Given the description of an element on the screen output the (x, y) to click on. 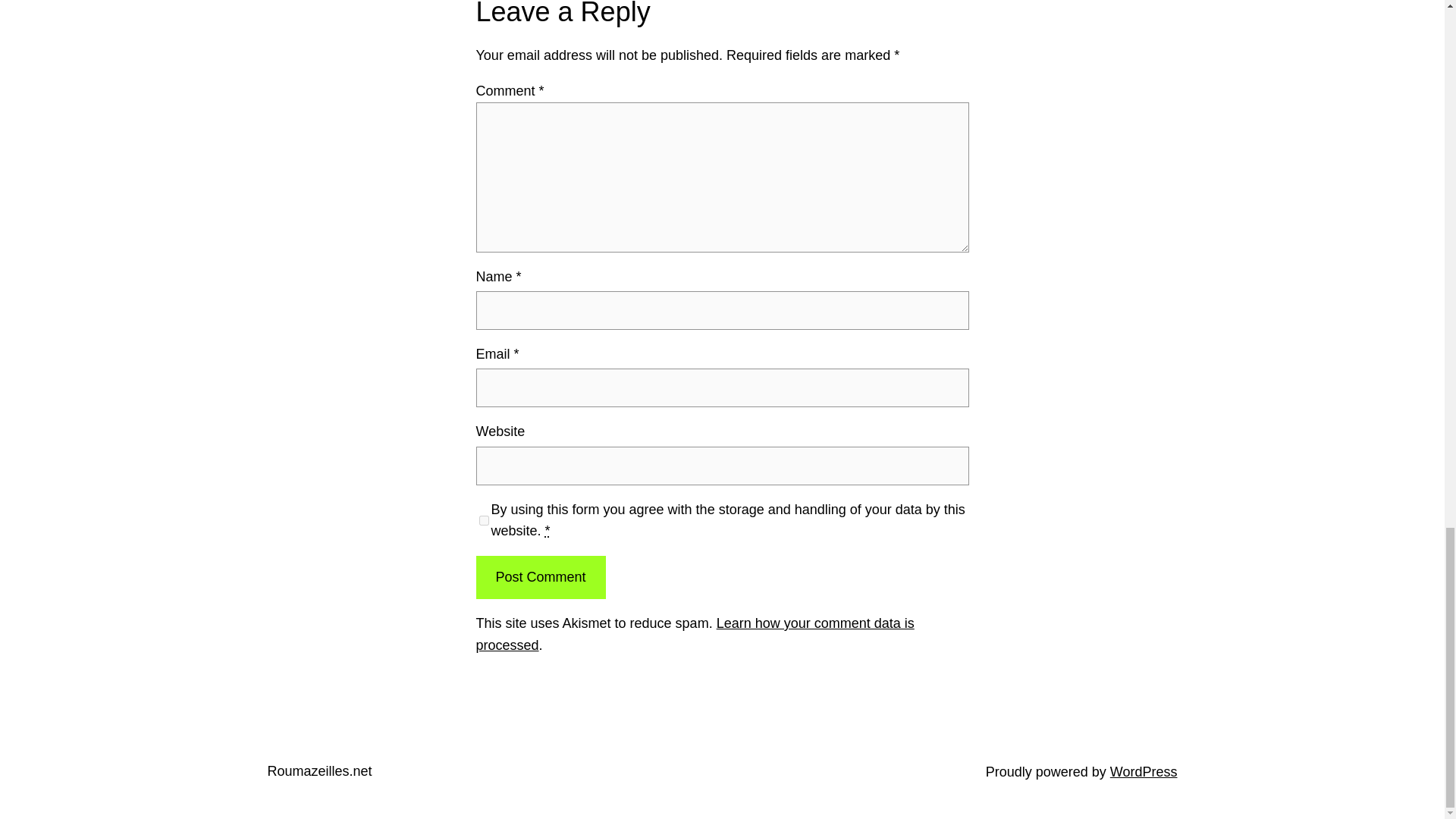
Post Comment (540, 577)
Roumazeilles.net (318, 770)
Learn how your comment data is processed (695, 633)
WordPress (1143, 771)
Post Comment (540, 577)
